Given the description of an element on the screen output the (x, y) to click on. 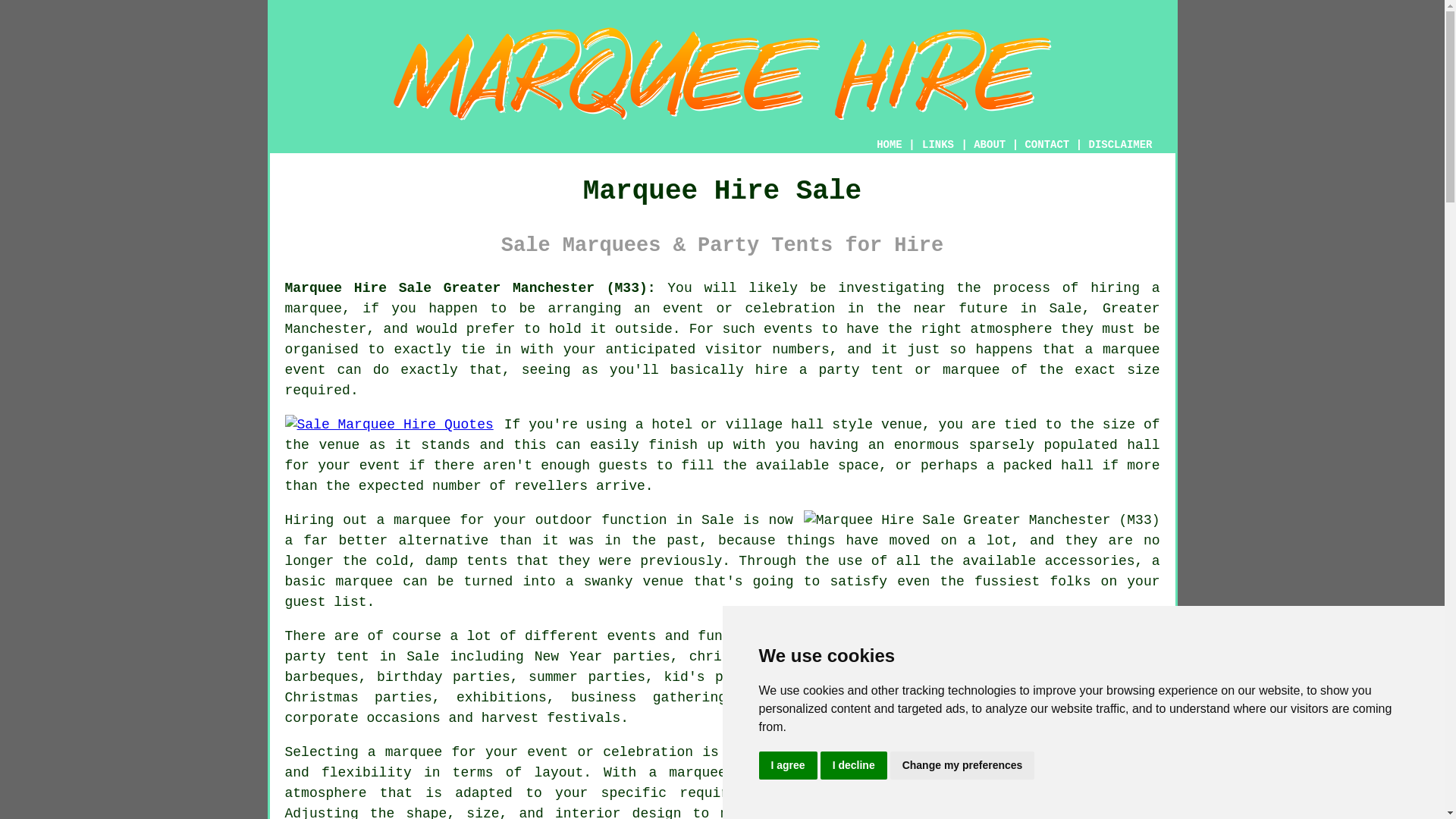
event (379, 465)
marquee (1131, 349)
hiring a marquee (722, 298)
LINKS (938, 144)
I decline (853, 765)
I agree (787, 765)
space (858, 465)
Marquee Hire Sale (722, 73)
Sale Marquee Hire Quotes (389, 424)
Change my preferences (962, 765)
